Given the description of an element on the screen output the (x, y) to click on. 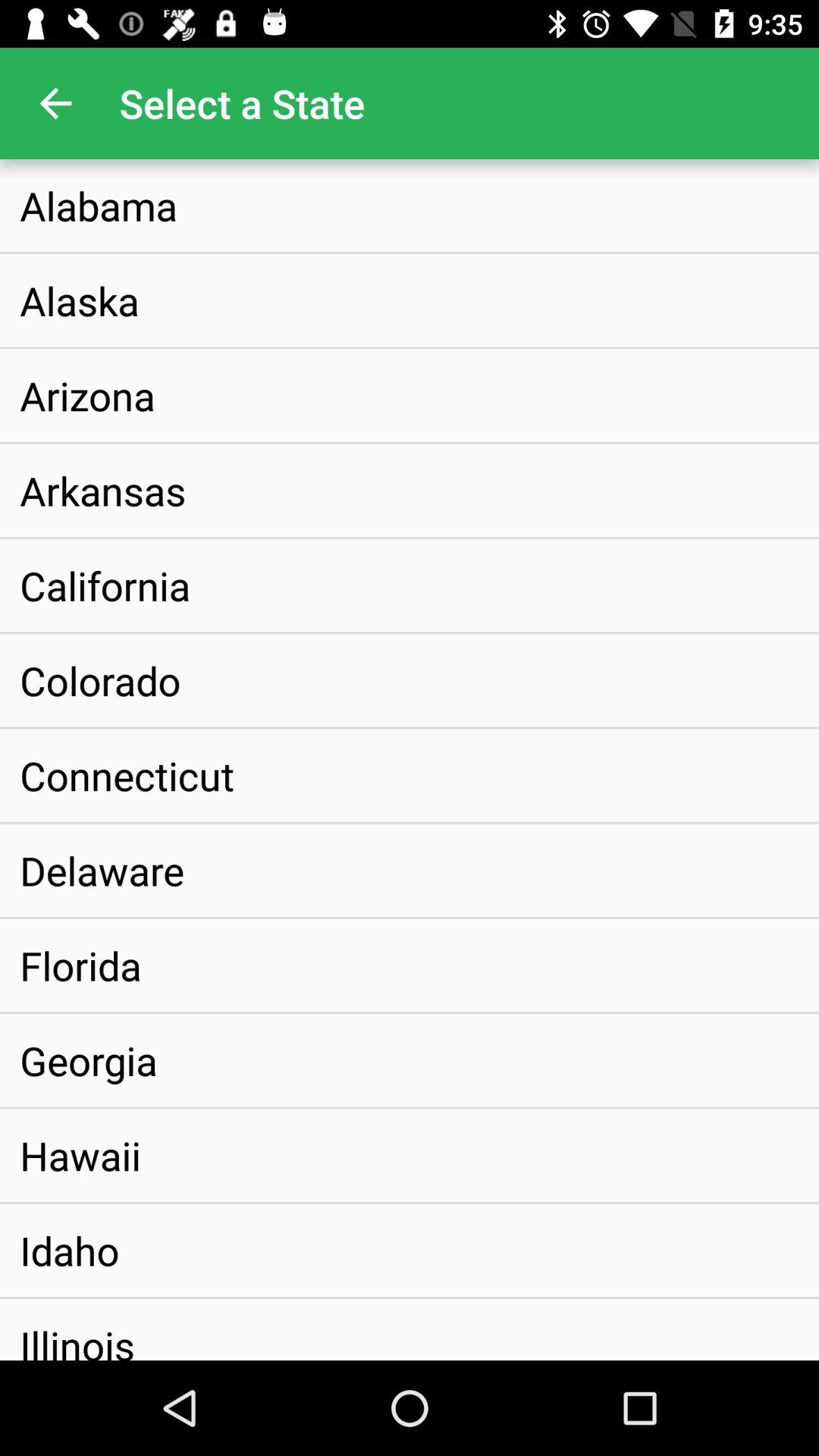
open item below the florida icon (88, 1060)
